Given the description of an element on the screen output the (x, y) to click on. 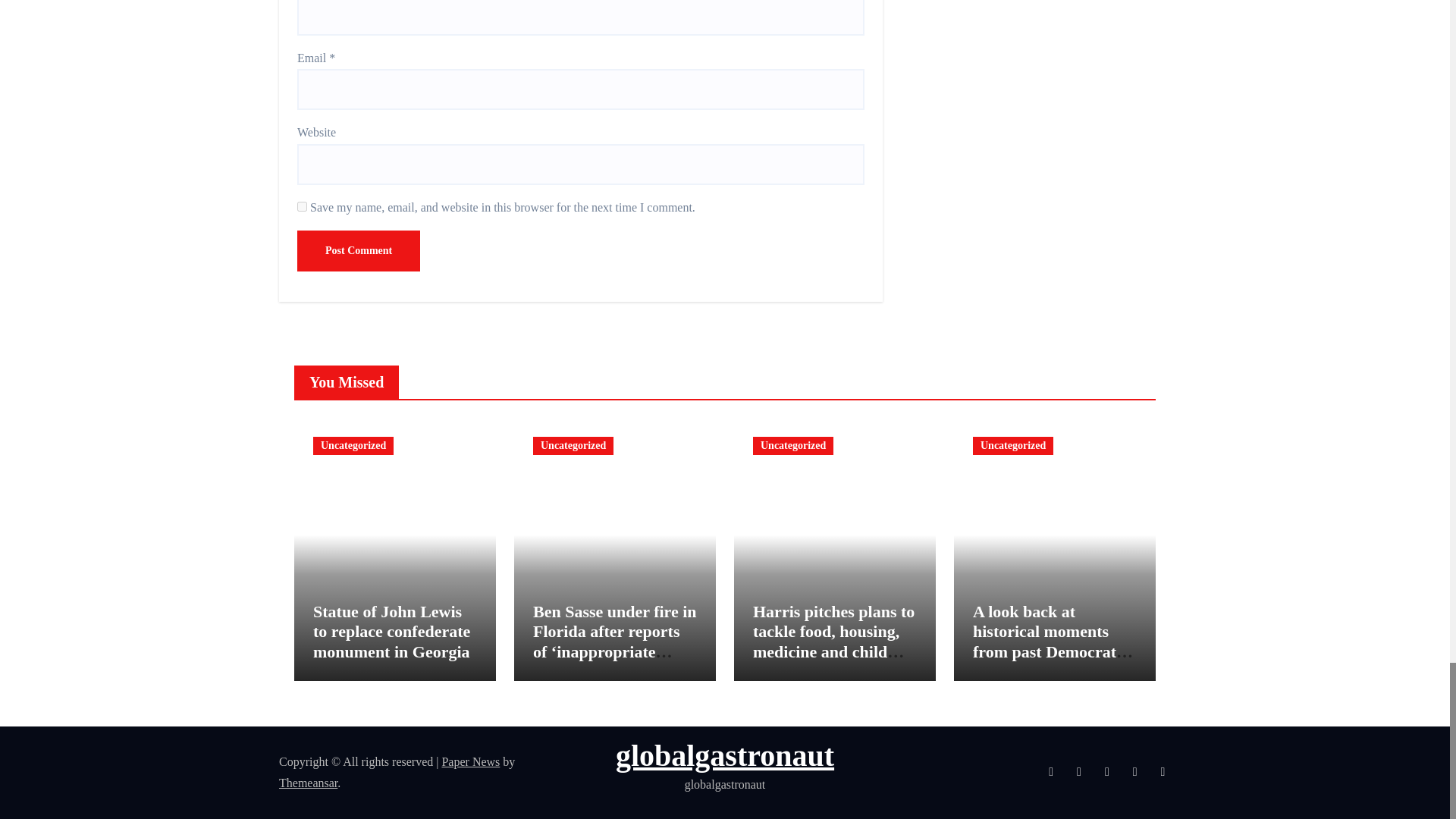
yes (302, 206)
Post Comment (358, 250)
